Given the description of an element on the screen output the (x, y) to click on. 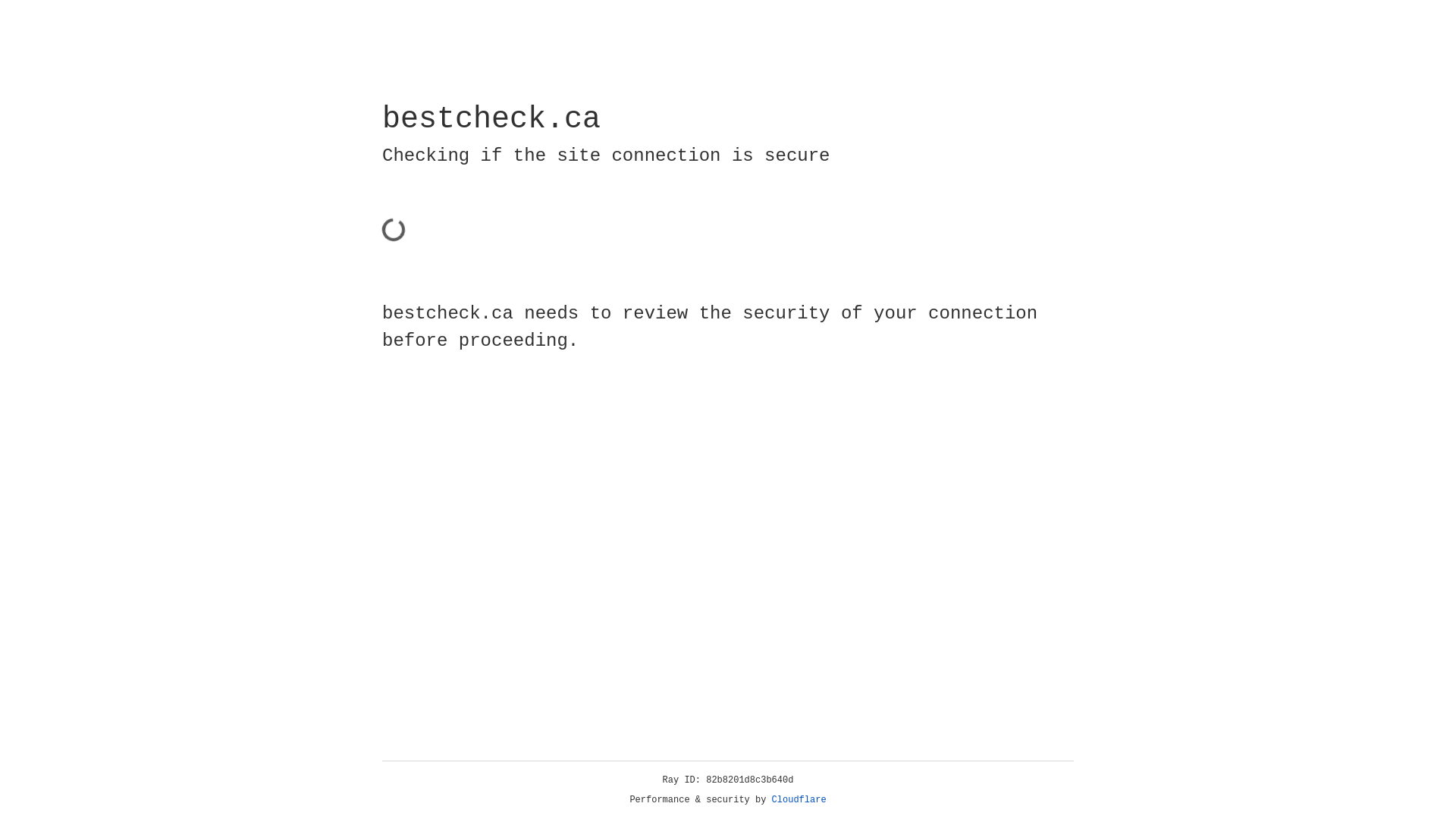
Cloudflare Element type: text (798, 799)
